Given the description of an element on the screen output the (x, y) to click on. 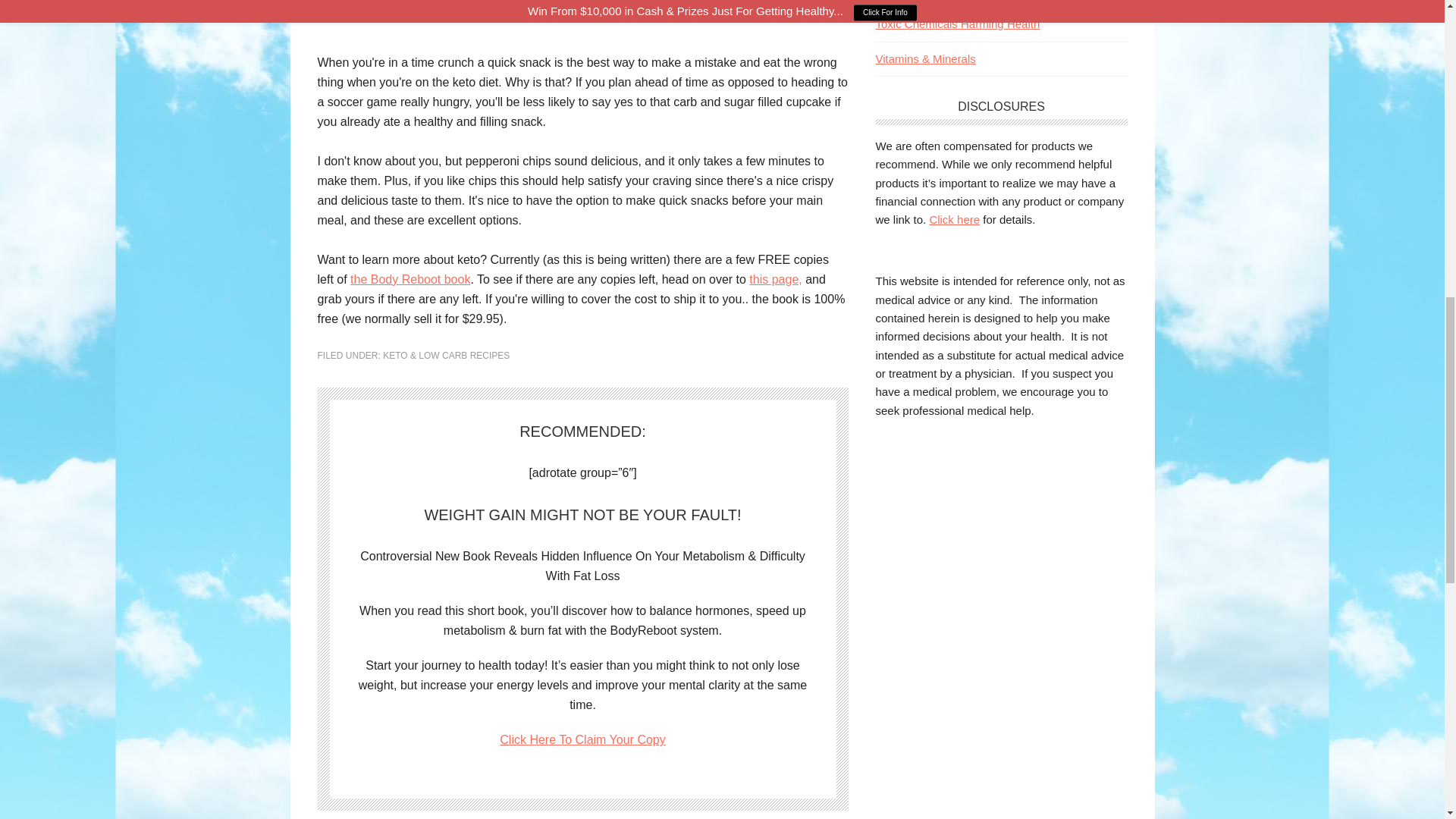
Click Here To Claim Your Copy (582, 739)
the Body Reboot book (410, 278)
this page, (775, 278)
